Given the description of an element on the screen output the (x, y) to click on. 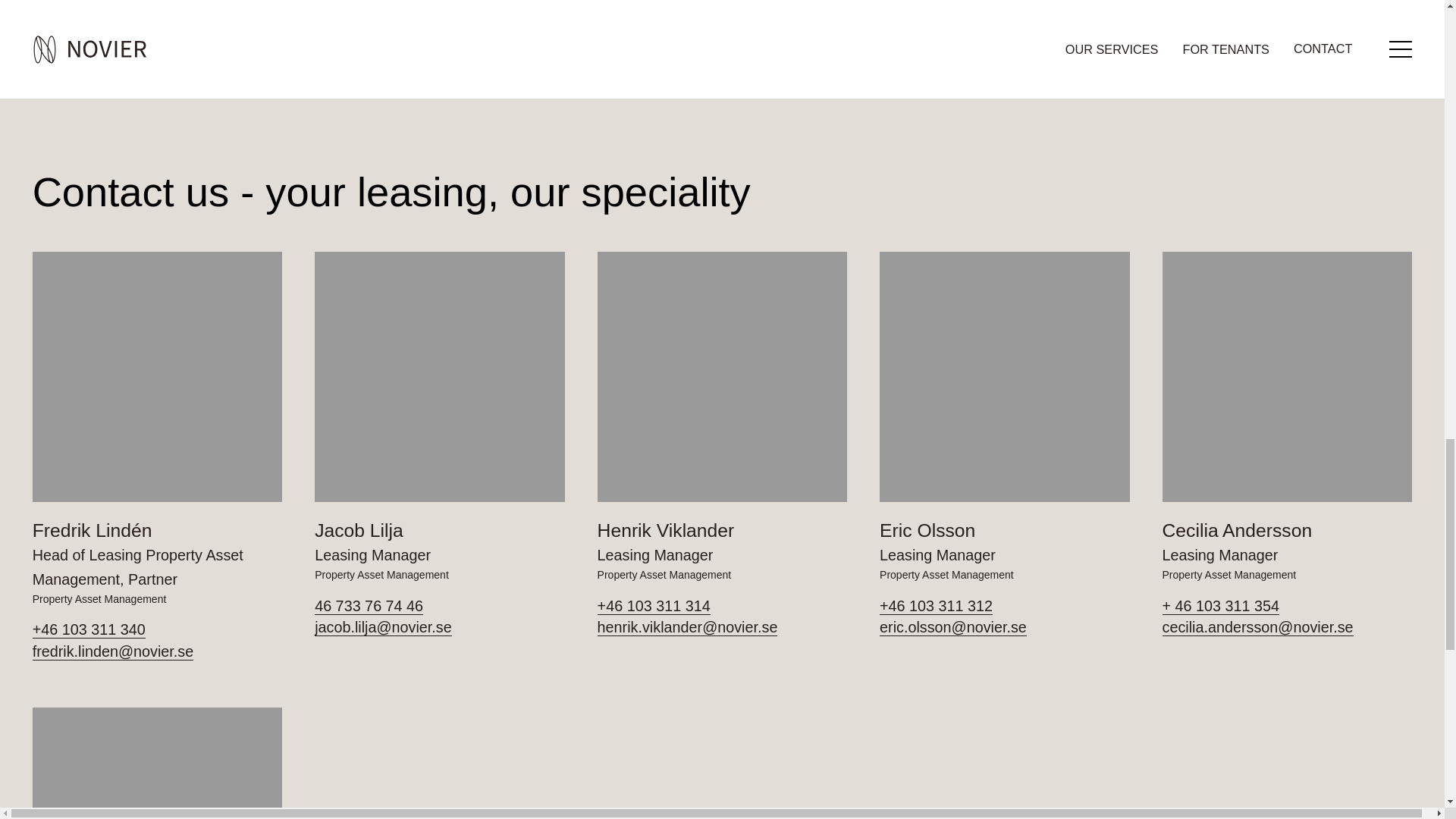
46 733 76 74 46 (439, 606)
